Given the description of an element on the screen output the (x, y) to click on. 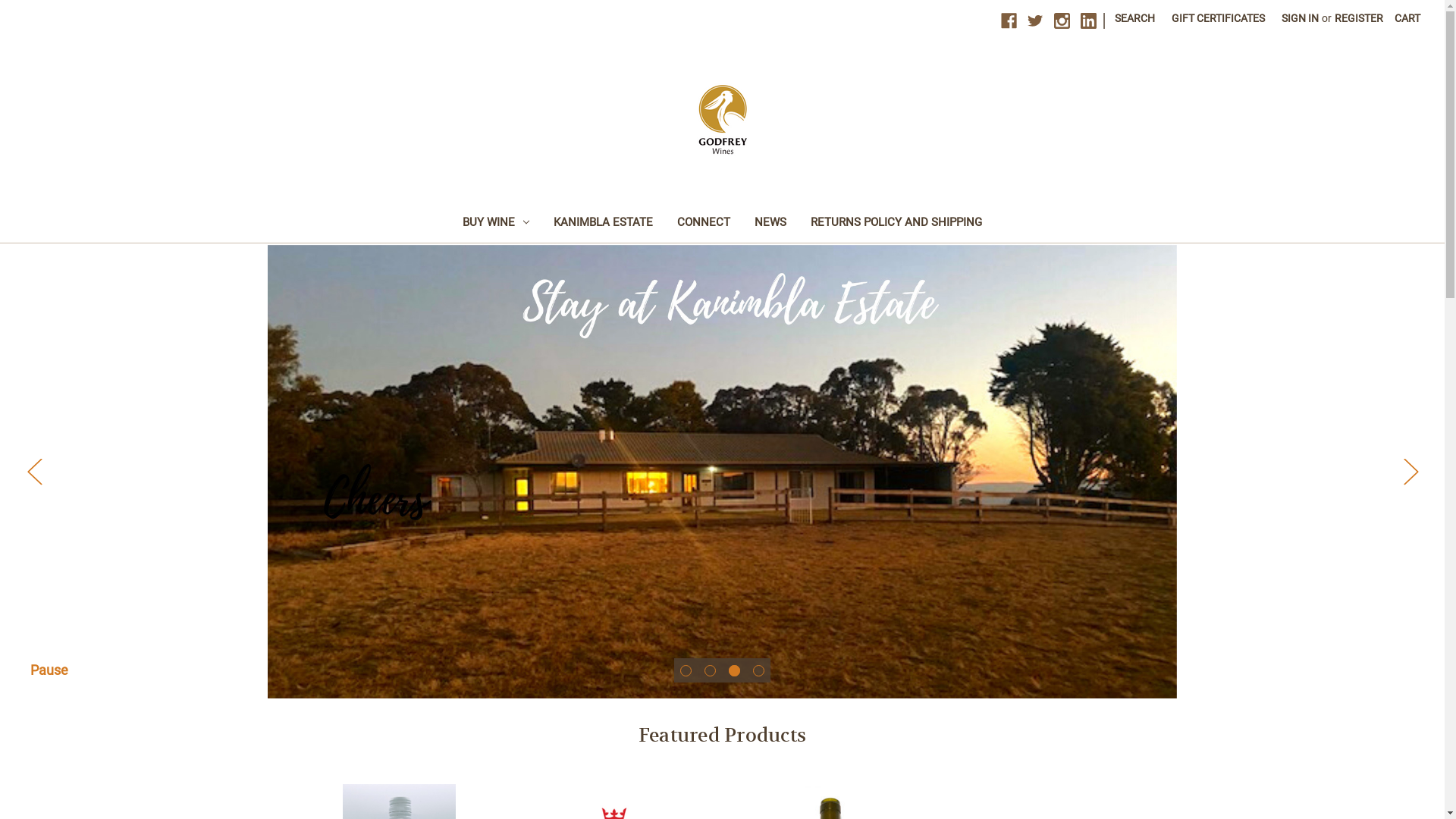
Instagram Element type: hover (1062, 20)
Previous Element type: text (33, 471)
SEARCH Element type: text (1134, 18)
Linkedin Element type: hover (1088, 20)
RETURNS POLICY AND SHIPPING Element type: text (896, 223)
GIFT CERTIFICATES Element type: text (1218, 18)
CART Element type: text (1407, 18)
Godfrey Wines Element type: hover (722, 119)
Pause Element type: text (48, 670)
KANIMBLA ESTATE Element type: text (603, 223)
Next Element type: text (1410, 471)
Twitter Element type: hover (1035, 20)
CONNECT Element type: text (703, 223)
Facebook Element type: hover (1008, 20)
BUY WINE Element type: text (495, 223)
NEWS Element type: text (770, 223)
REGISTER Element type: text (1358, 18)
SIGN IN Element type: text (1300, 18)
